Given the description of an element on the screen output the (x, y) to click on. 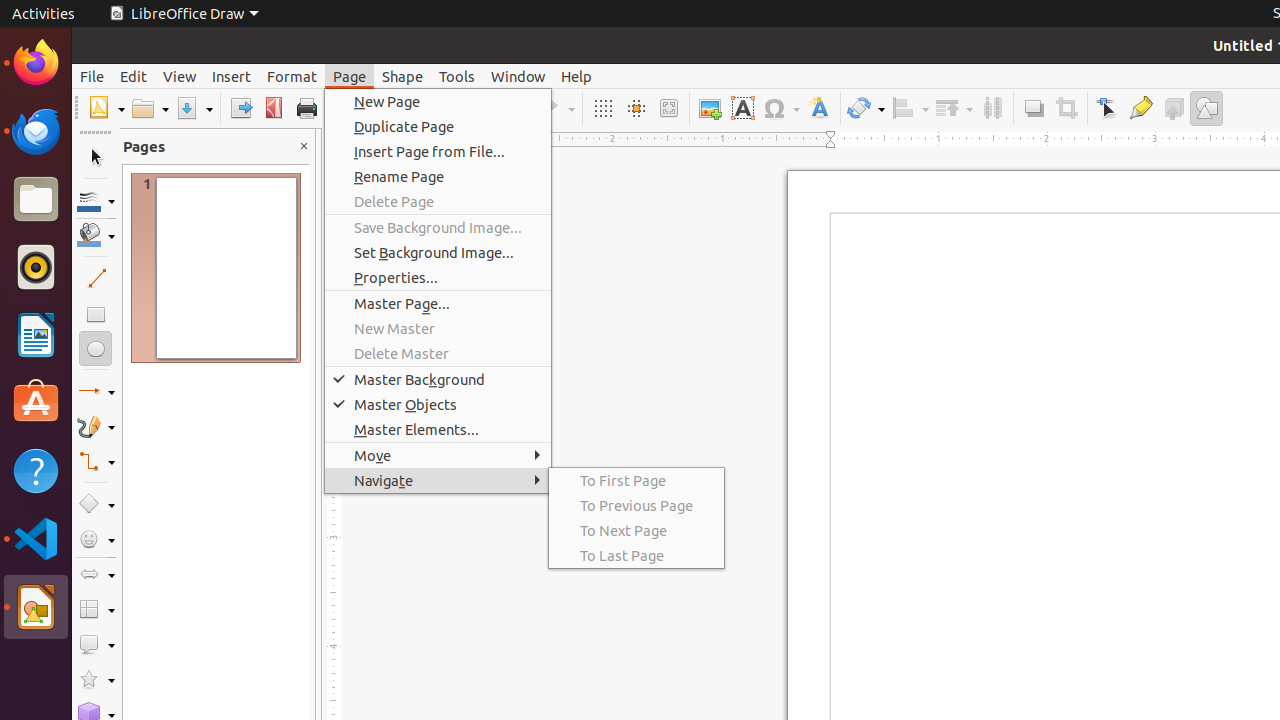
Navigate Element type: menu (438, 480)
Visual Studio Code Element type: push-button (36, 538)
Fontwork Style Element type: toggle-button (819, 108)
File Element type: menu (92, 76)
Ubuntu Software Element type: push-button (36, 402)
